Given the description of an element on the screen output the (x, y) to click on. 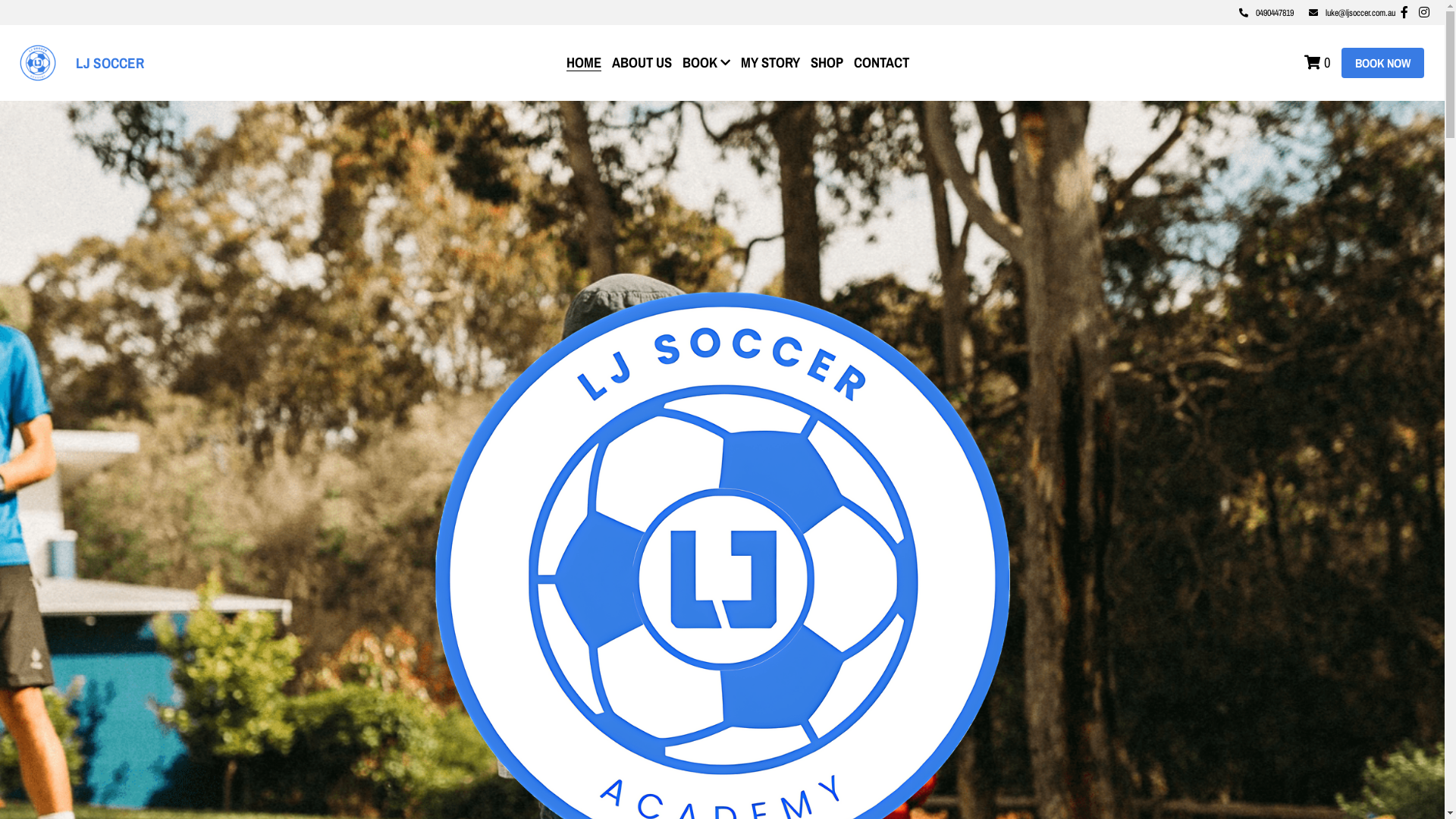
LJ SOCCER Element type: text (109, 62)
SHOP Element type: text (825, 62)
MY STORY Element type: text (769, 62)
HOME Element type: text (582, 62)
BOOK NOW Element type: text (1382, 62)
ABOUT US Element type: text (641, 62)
CONTACT Element type: text (881, 62)
